Given the description of an element on the screen output the (x, y) to click on. 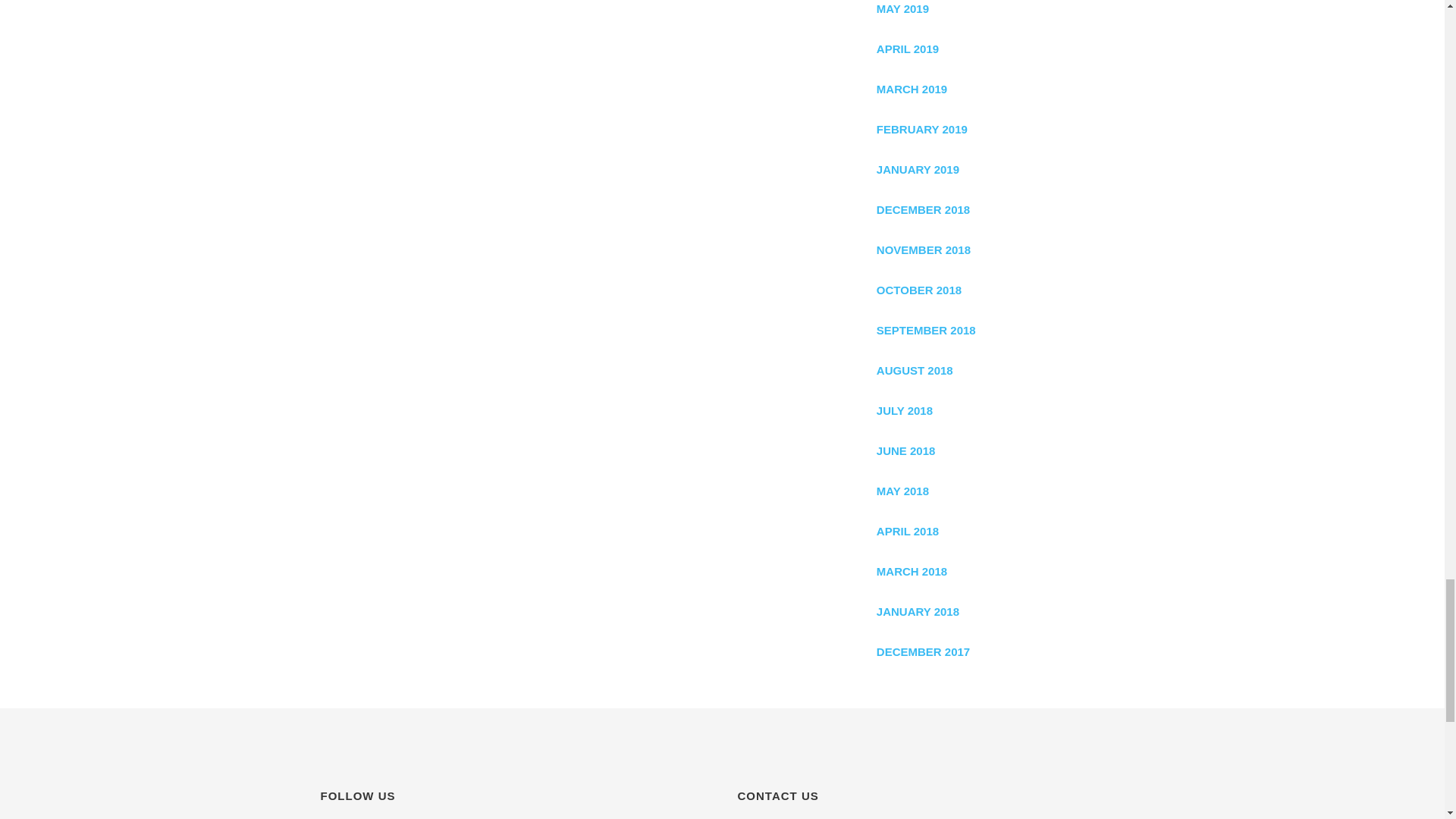
Visit Cross of Glory Lutheran Church on Facebook (324, 815)
